Given the description of an element on the screen output the (x, y) to click on. 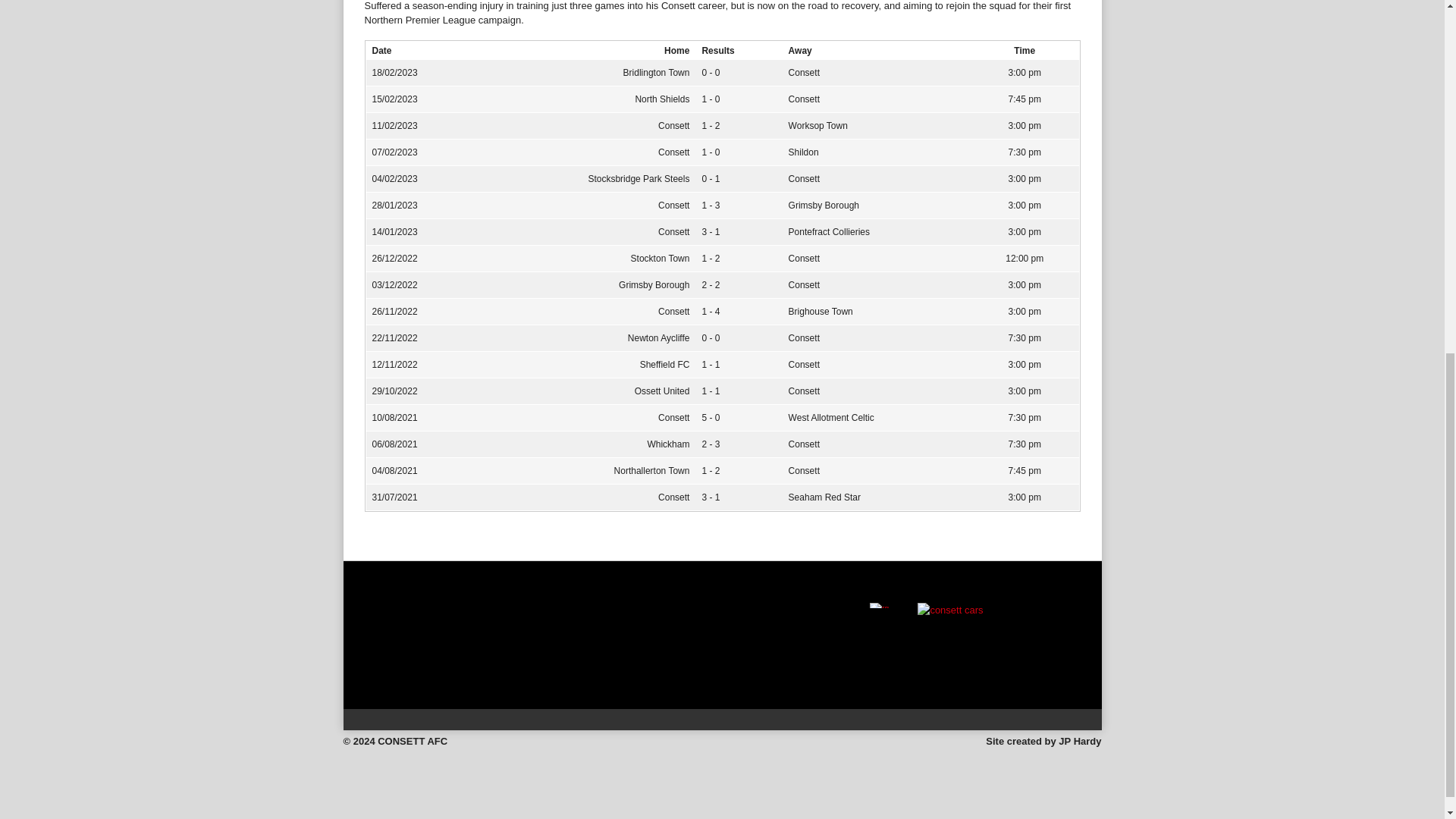
3:00 pm (1025, 125)
1 - 2 (710, 125)
Consett (804, 99)
Worksop Town (818, 125)
North Shields (661, 99)
Consett (804, 72)
Bridlington Town (656, 72)
3:00 pm (1025, 72)
7:45 pm (1025, 99)
Consett (673, 125)
